Given the description of an element on the screen output the (x, y) to click on. 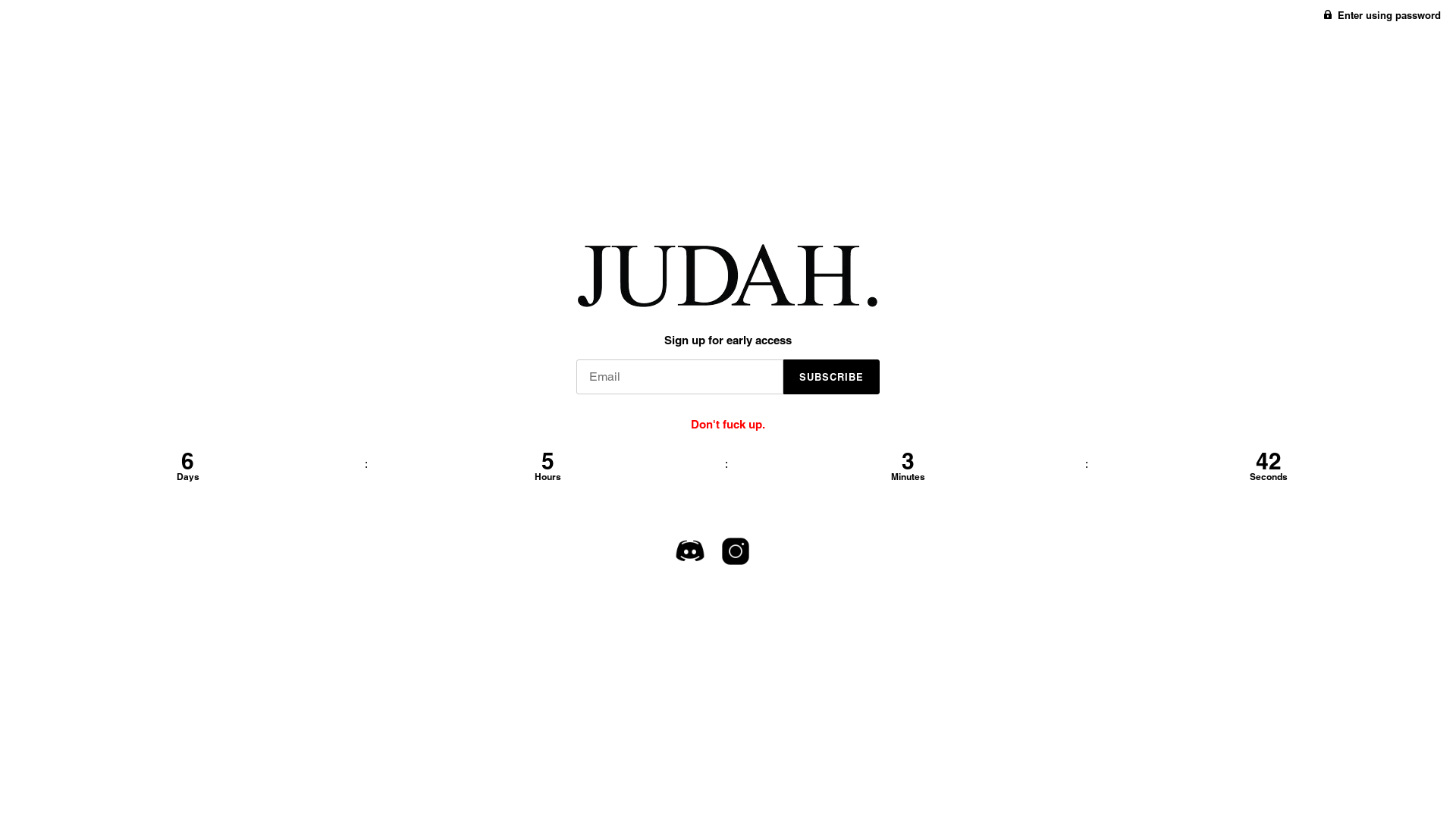
Subscribe Element type: text (831, 376)
Enter using password Element type: text (1382, 15)
